Given the description of an element on the screen output the (x, y) to click on. 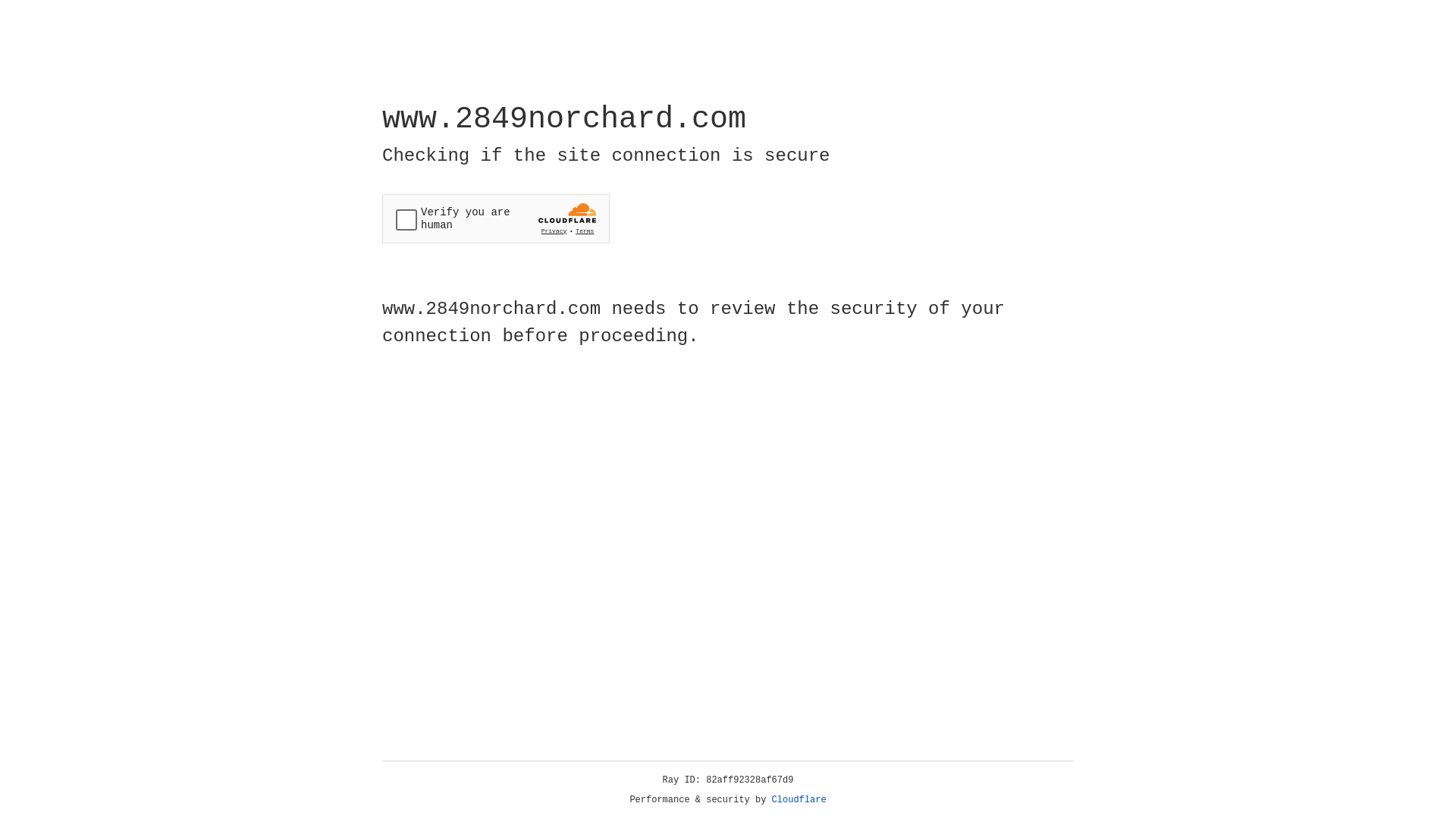
Widget containing a Cloudflare security challenge Element type: hover (495, 218)
Cloudflare Element type: text (798, 799)
